Given the description of an element on the screen output the (x, y) to click on. 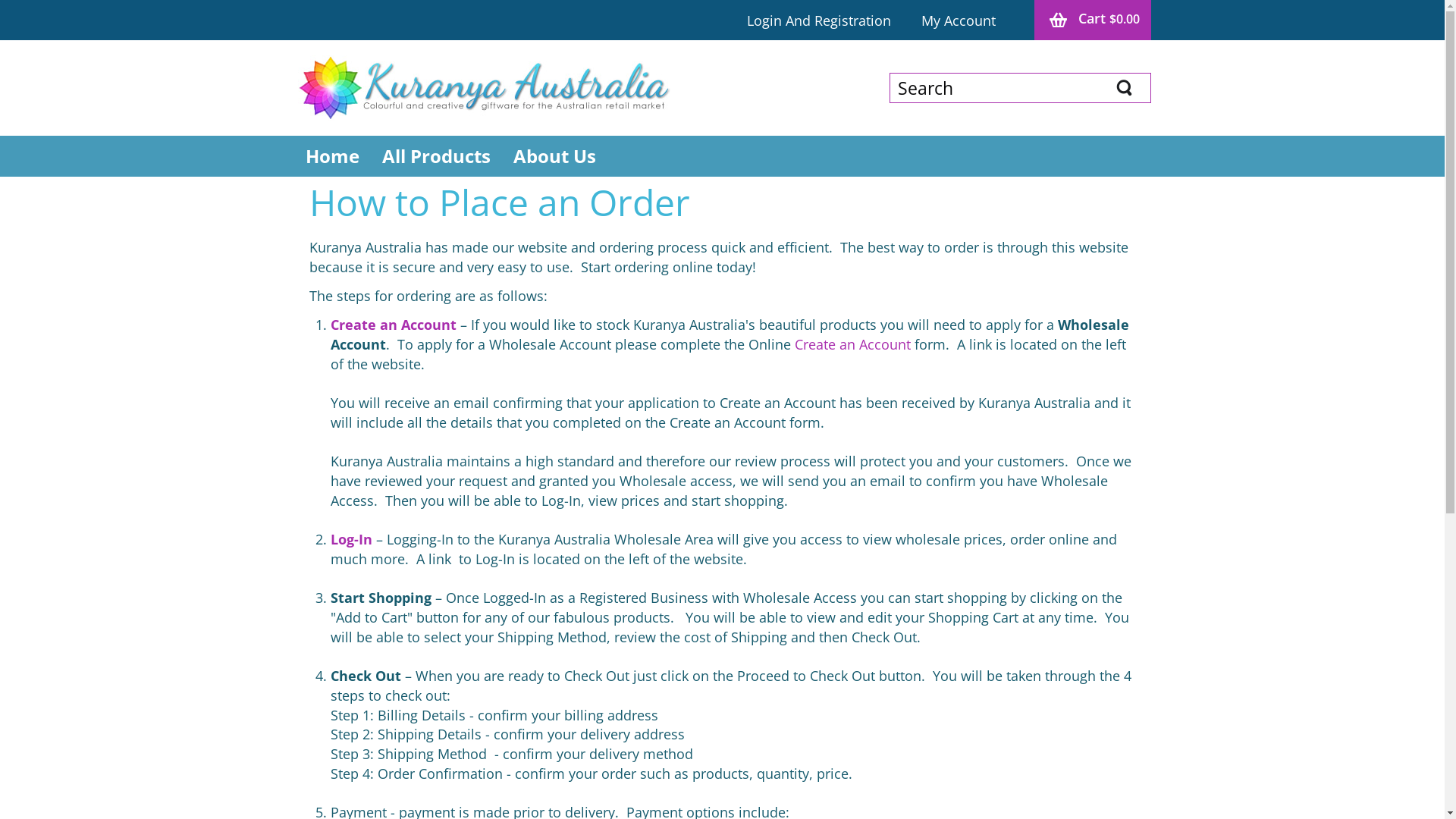
Login And Registration Element type: text (818, 20)
Log-In Element type: text (351, 539)
All Products Element type: text (435, 155)
Home Element type: text (332, 155)
My Account Element type: text (958, 20)
Create an Account  Element type: text (854, 344)
About Us Element type: text (554, 155)
Cart $0.00 Element type: text (1092, 20)
Create an Account Element type: text (393, 324)
